Given the description of an element on the screen output the (x, y) to click on. 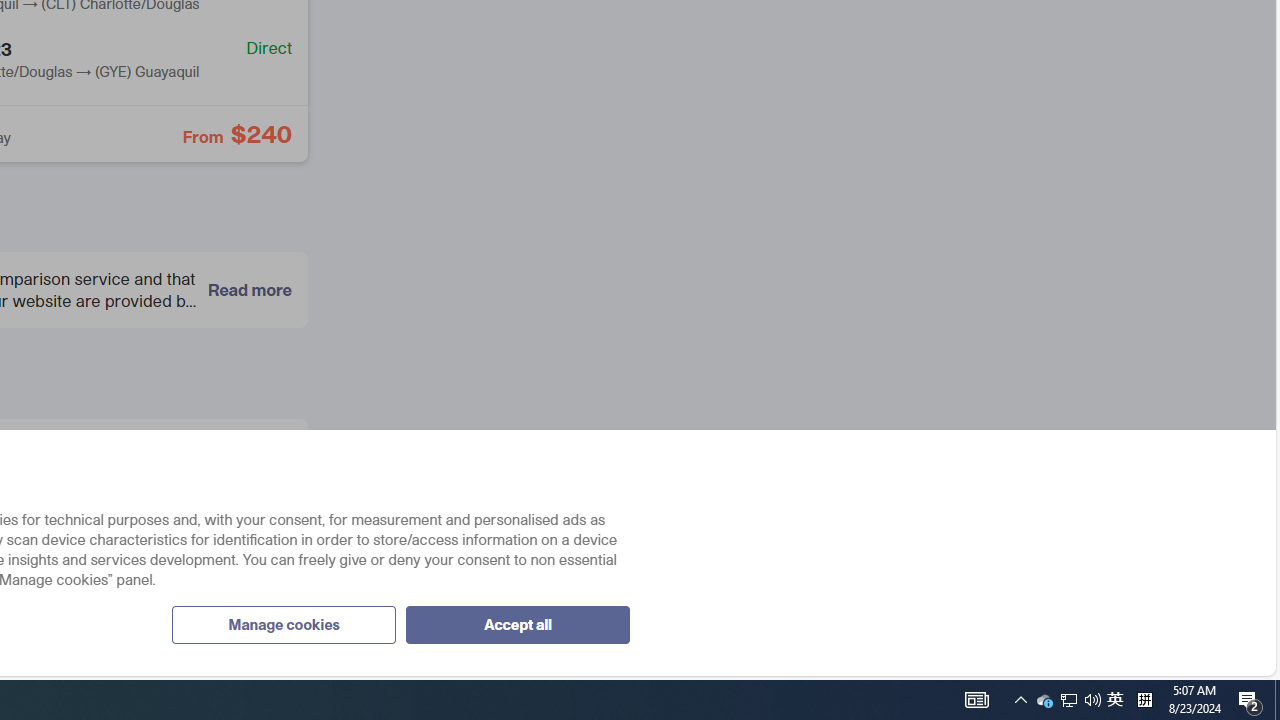
Spirit Airlines Spirit Airlines (144, 539)
Copa Airlines Copa Airlines (144, 467)
Manage cookies (283, 624)
Copa Airlines (29, 466)
Accept all (517, 624)
Spirit Airlines (29, 538)
